Given the description of an element on the screen output the (x, y) to click on. 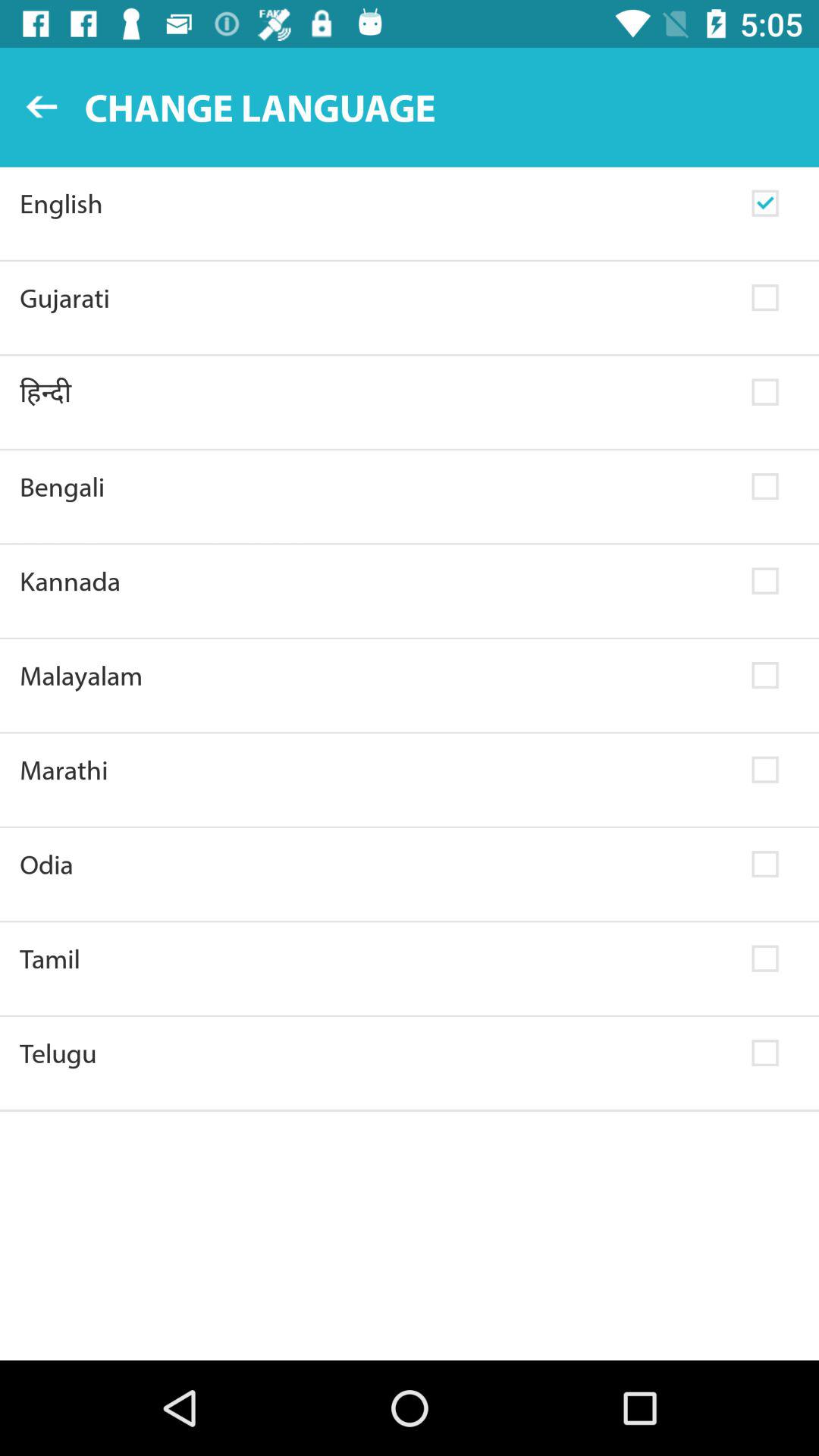
jump until the tamil item (375, 958)
